Given the description of an element on the screen output the (x, y) to click on. 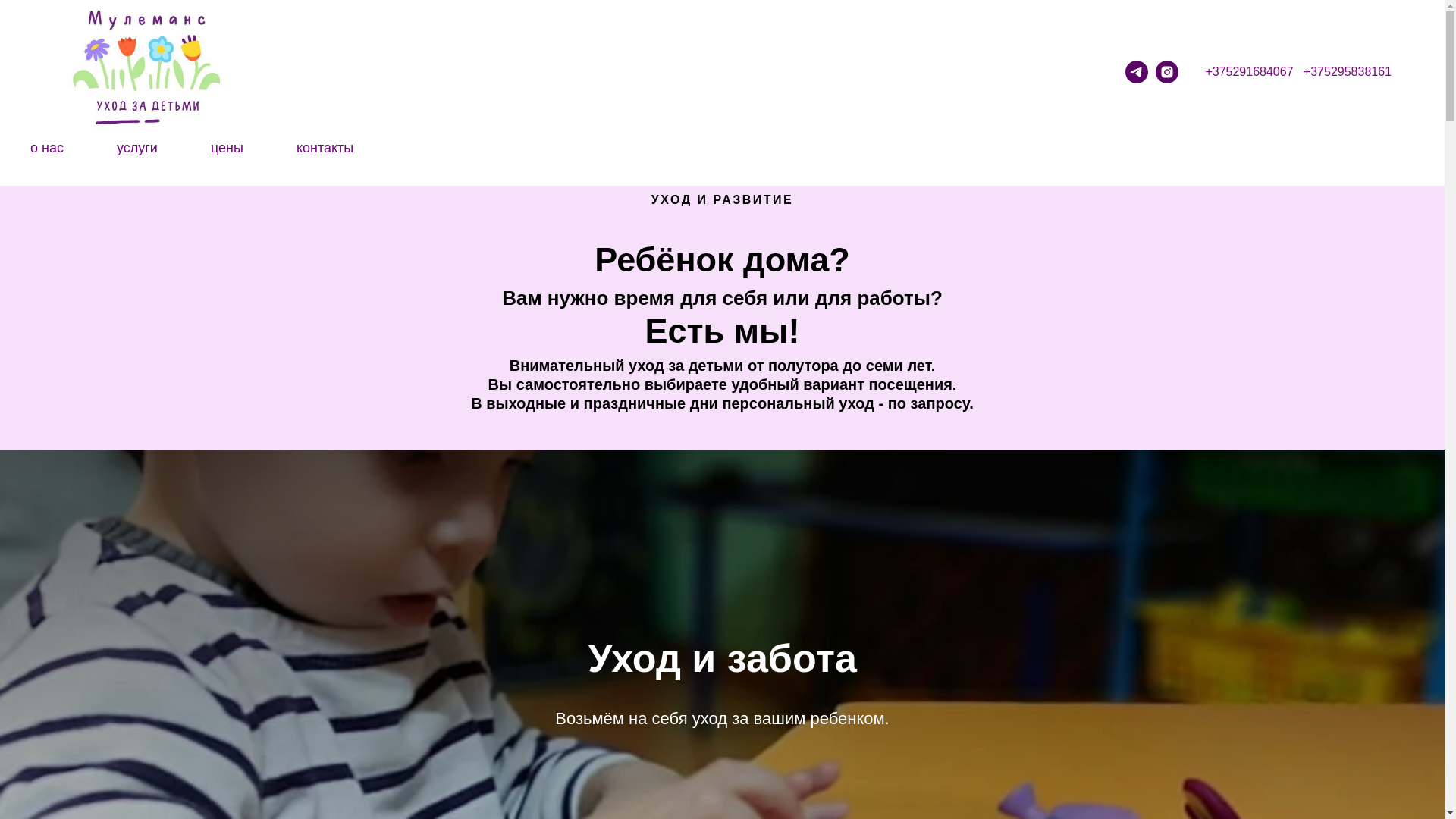
https://www.instagram.com/detskoeoblako.by/ Element type: hover (1166, 71)
https://t.me/DetskoeOblako Element type: hover (1136, 71)
